Given the description of an element on the screen output the (x, y) to click on. 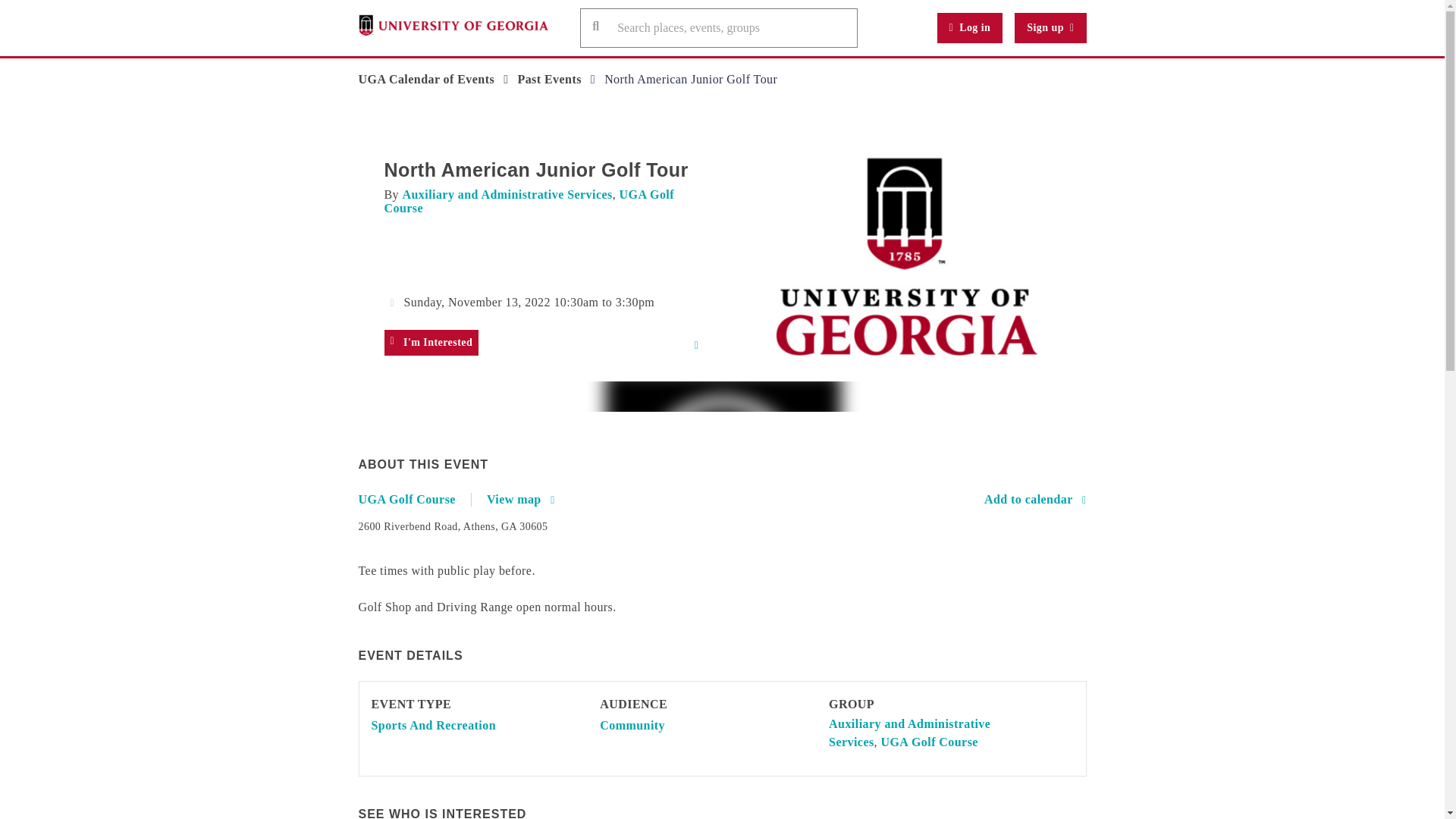
Auxiliary and Administrative Services (506, 194)
UGA Calendar of Events (426, 78)
UGA Golf Course (528, 201)
Sports And Recreation (433, 724)
View map (520, 499)
Sign up (1050, 28)
Auxiliary and Administrative Services (909, 732)
Log in (970, 28)
UGA Golf Course (928, 741)
I'm Interested (431, 342)
